Given the description of an element on the screen output the (x, y) to click on. 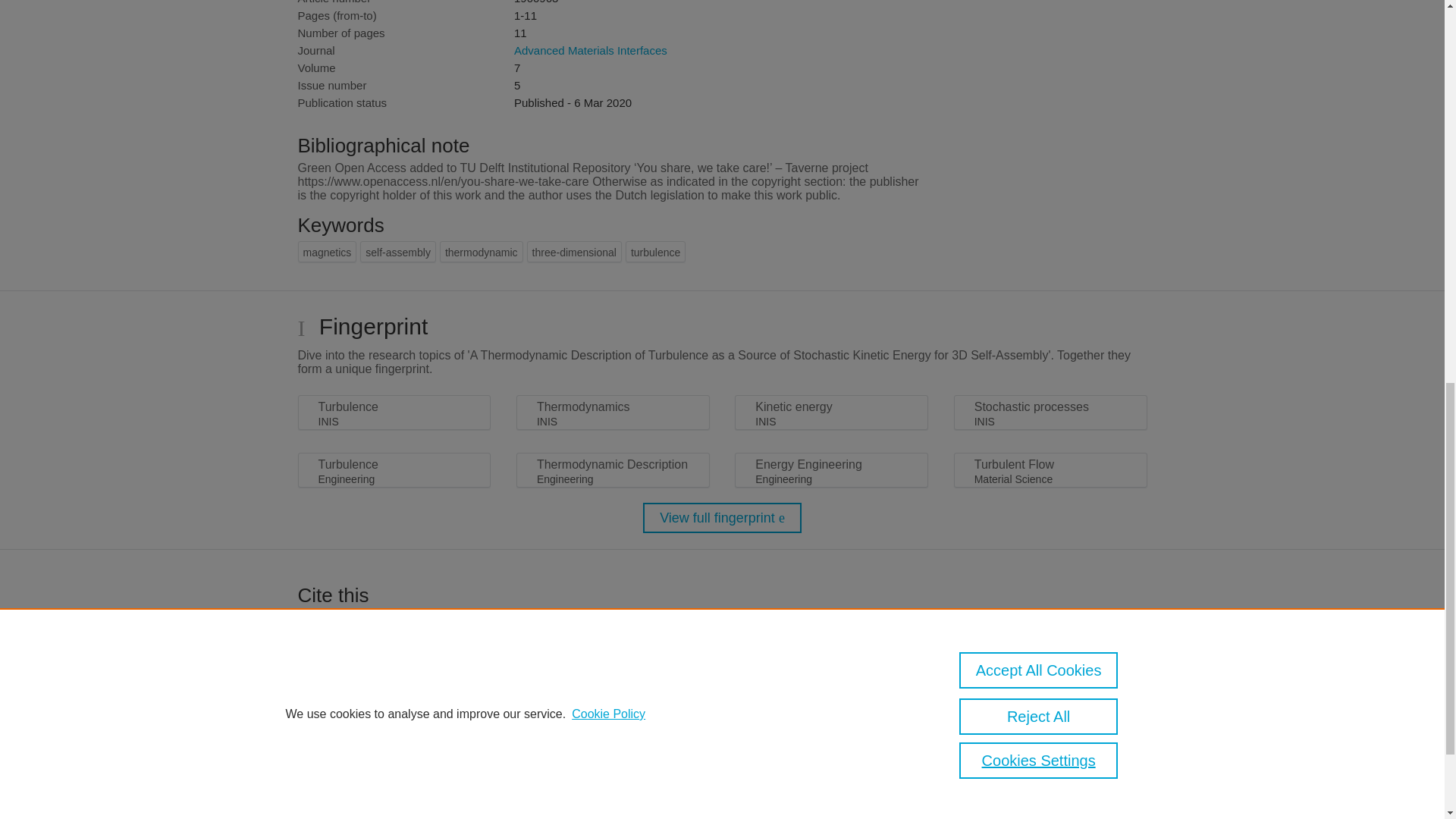
Advanced Materials Interfaces (589, 50)
Pure (362, 803)
View full fingerprint (722, 517)
Scopus (394, 803)
